Given the description of an element on the screen output the (x, y) to click on. 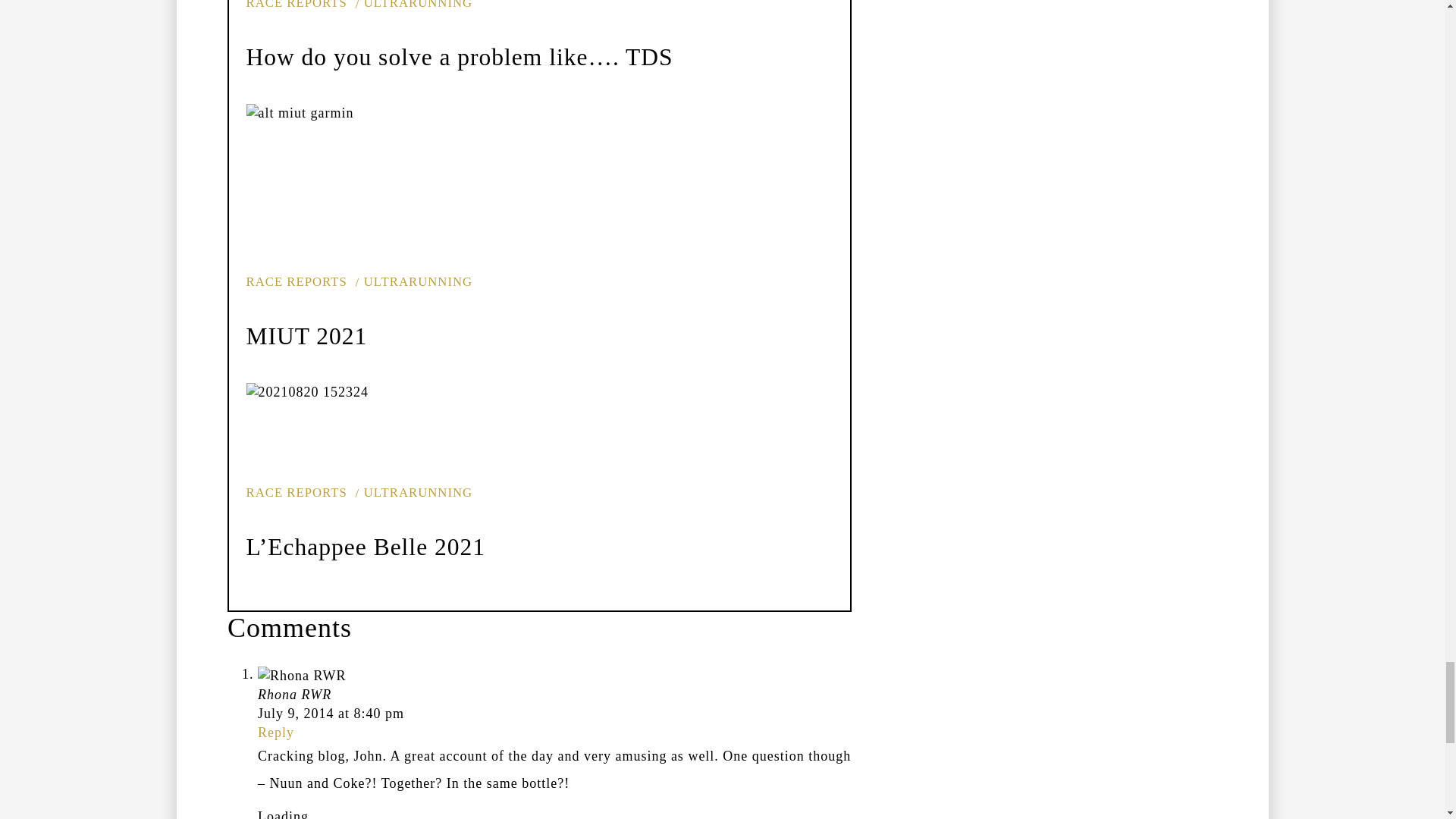
Rhona RWR (294, 694)
MIUT 2021 (306, 335)
RACE REPORTS (296, 4)
RACE REPORTS (296, 281)
MIUT 2021 (306, 335)
ULTRARUNNING (414, 4)
RACE REPORTS (296, 492)
ULTRARUNNING (414, 281)
Permalink to: "MIUT 2021" (359, 187)
ULTRARUNNING (414, 492)
